Given the description of an element on the screen output the (x, y) to click on. 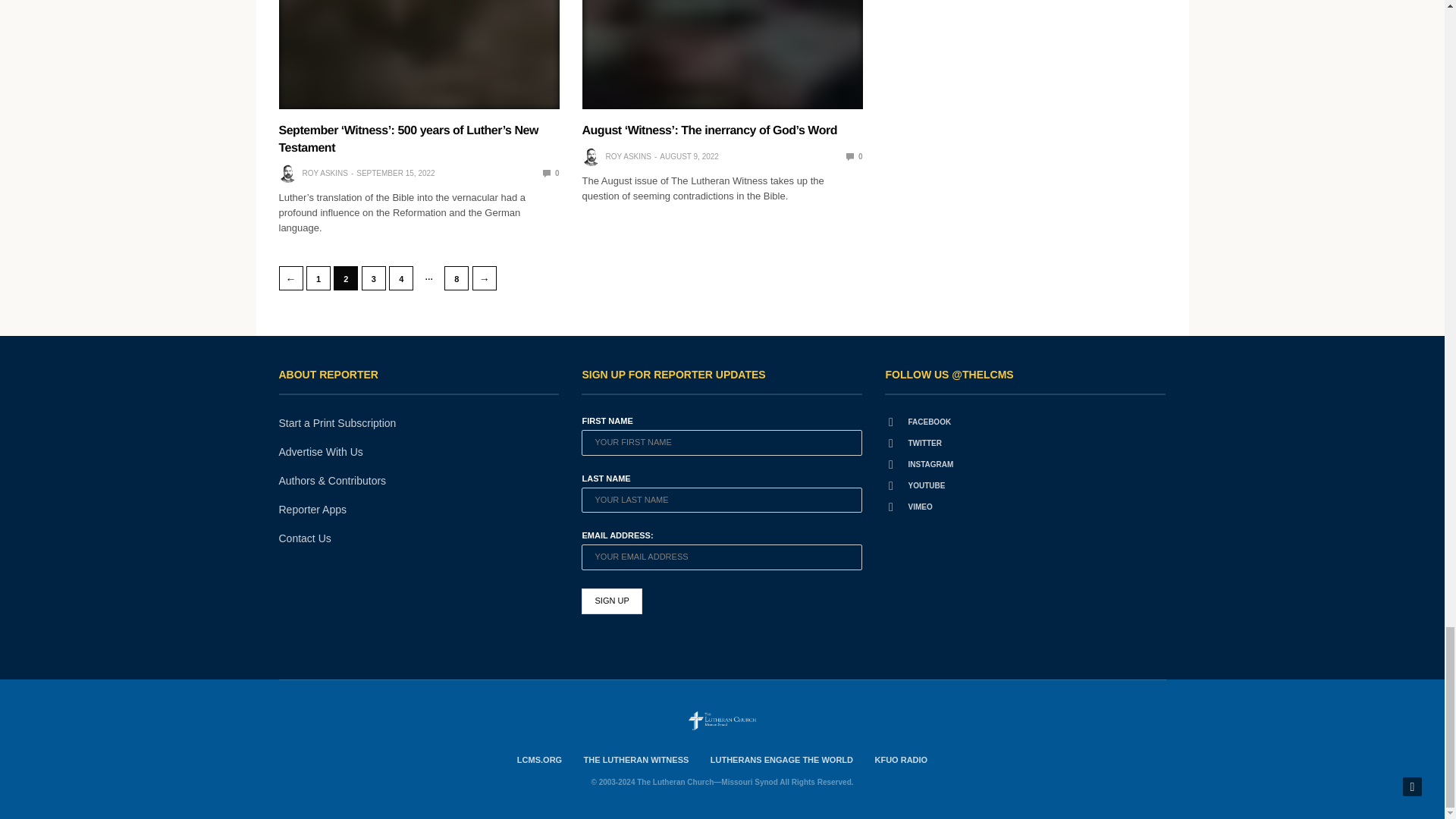
Sign up (611, 601)
